Given the description of an element on the screen output the (x, y) to click on. 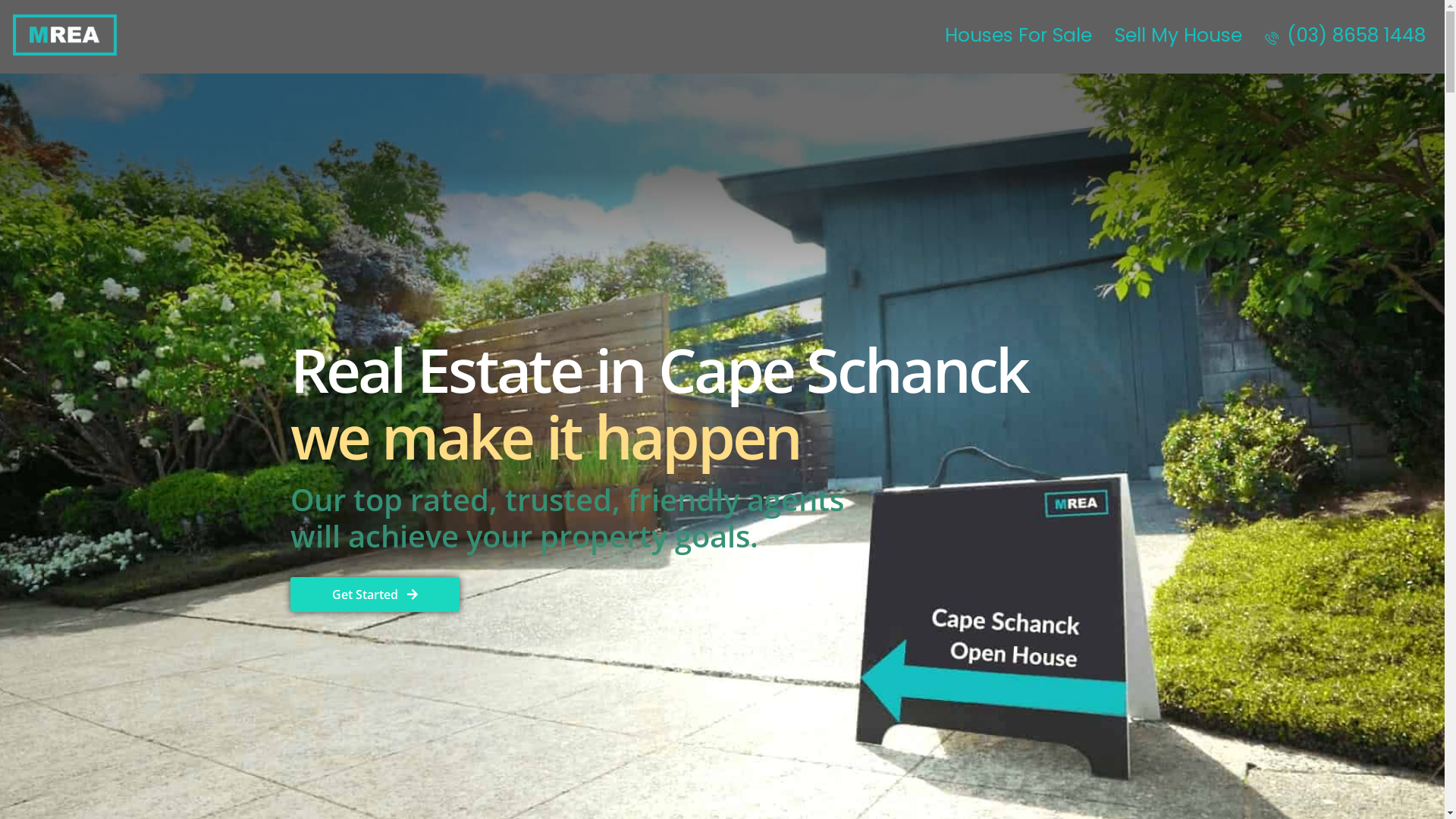
(03) 8658 1448 Element type: text (1348, 35)
Sell My House Element type: text (1178, 35)
Houses For Sale Element type: text (1018, 35)
Get Started Element type: text (373, 594)
